Given the description of an element on the screen output the (x, y) to click on. 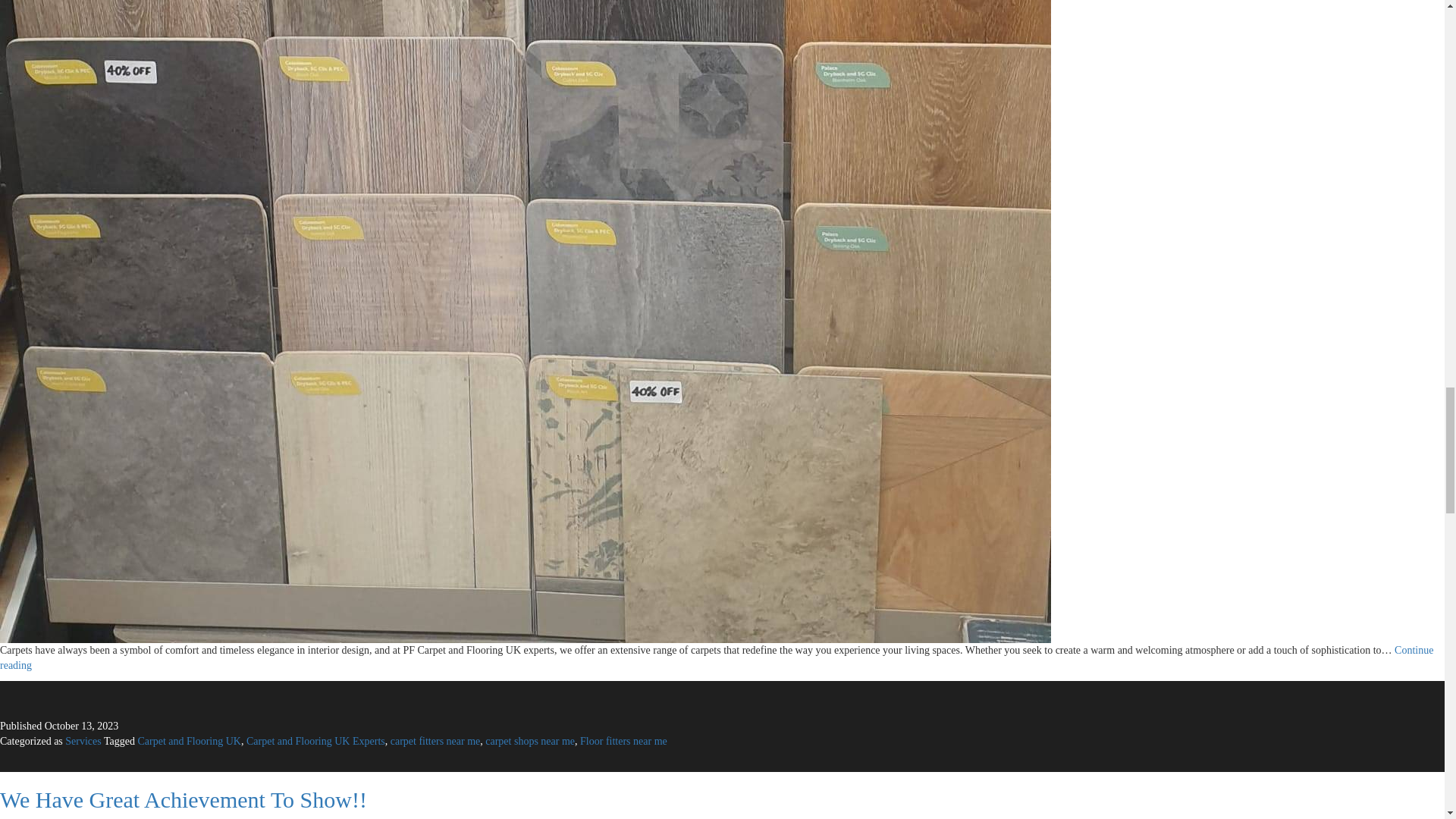
Carpet and Flooring UK (189, 740)
carpet fitters near me (435, 740)
Carpet and Flooring UK Experts (315, 740)
carpet shops near me (529, 740)
We Have Great Achievement To Show!! (183, 799)
Floor fitters near me (622, 740)
Services (82, 740)
